Given the description of an element on the screen output the (x, y) to click on. 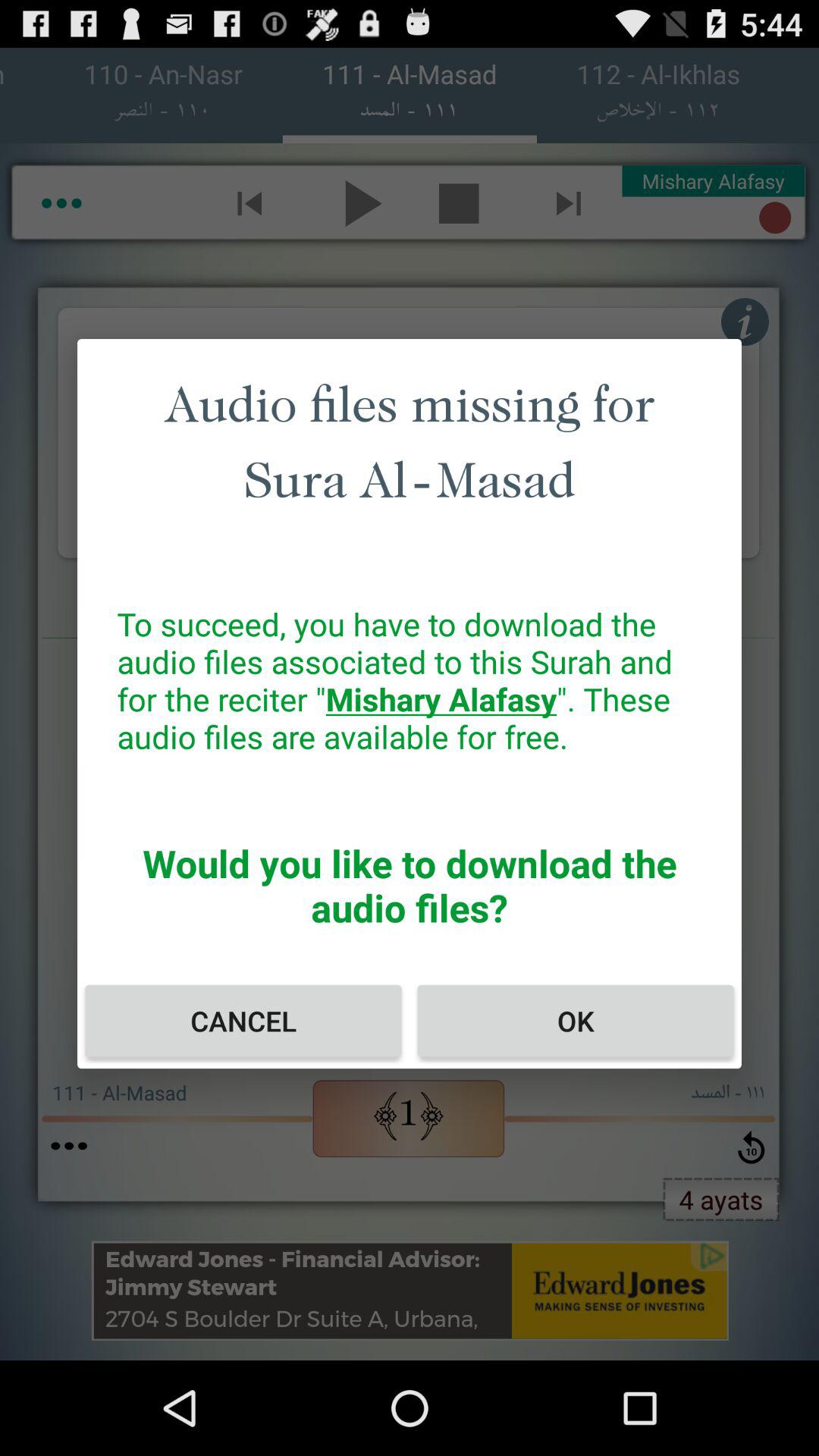
turn off icon next to ok icon (243, 1020)
